Given the description of an element on the screen output the (x, y) to click on. 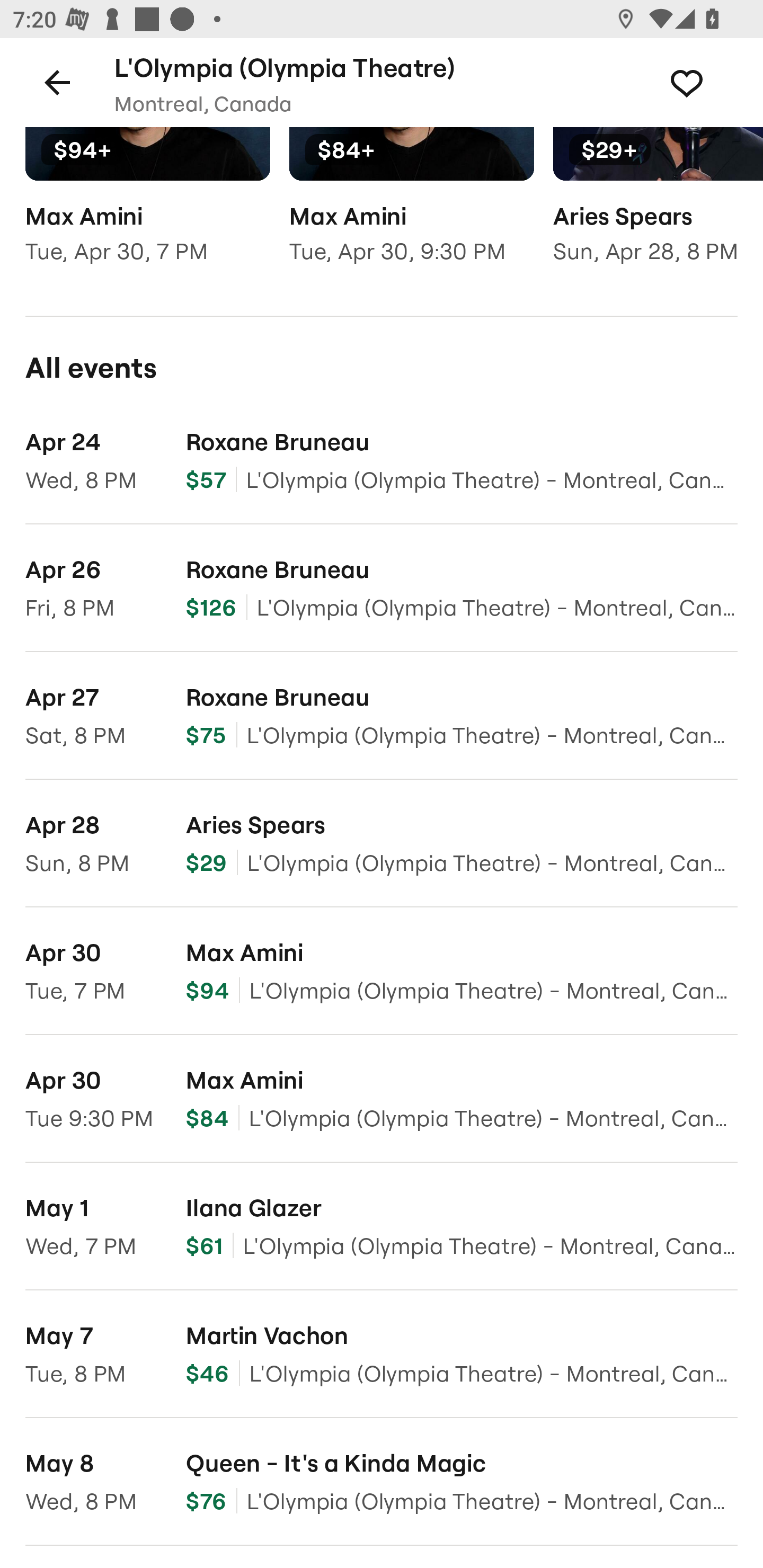
Back (57, 81)
Tracking (705, 81)
$94+ Max Amini Tue, Apr 30, 7 PM (147, 208)
$84+ Max Amini Tue, Apr 30, 9:30 PM (411, 208)
$29+ Aries Spears Sun, Apr 28, 8 PM (658, 208)
